Given the description of an element on the screen output the (x, y) to click on. 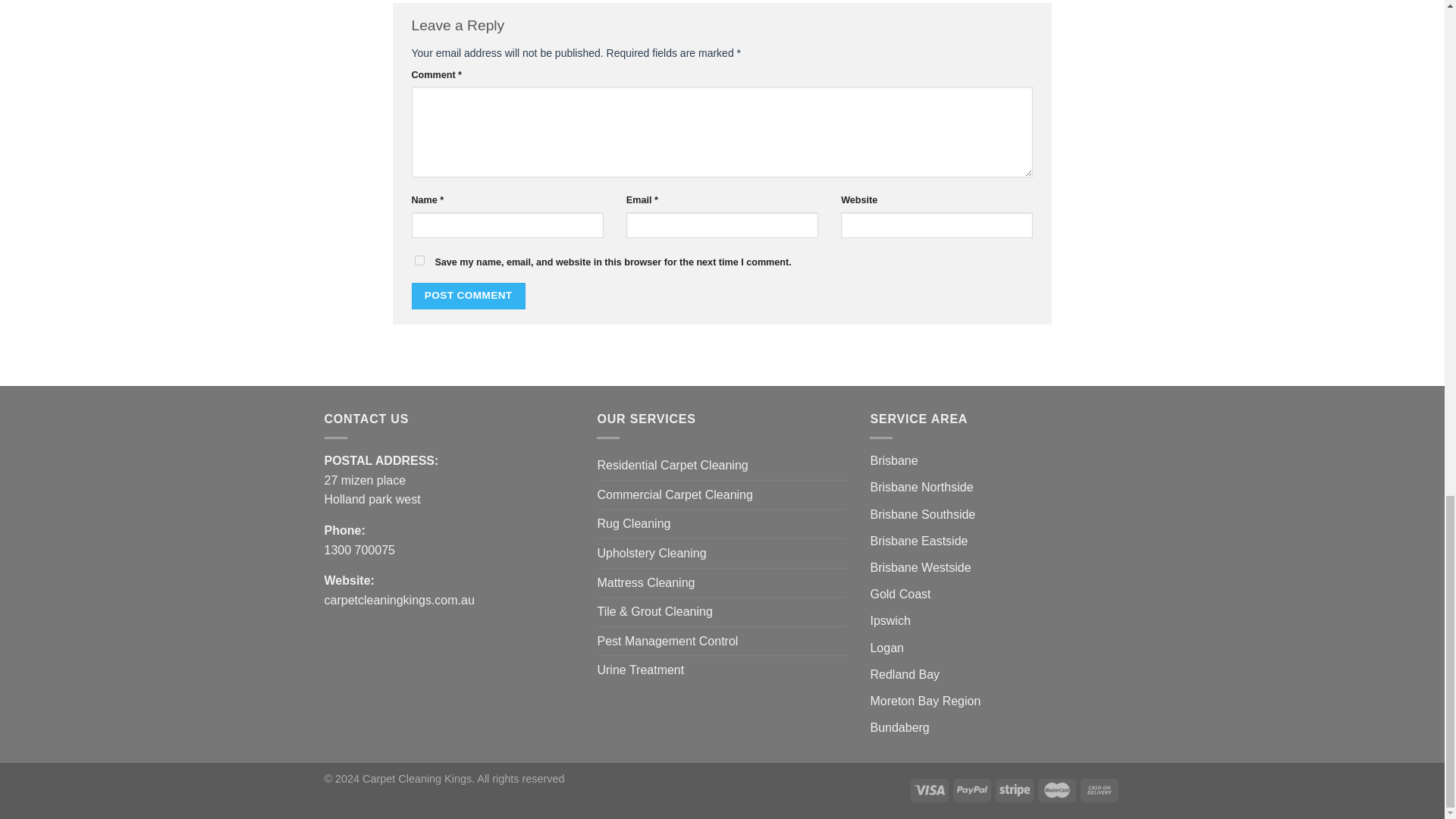
Brisbane Eastside (918, 540)
Residential Carpet Cleaning (672, 465)
Pest Management Control (667, 641)
Brisbane Northside (920, 486)
Mattress Cleaning (645, 582)
Brisbane Southside (922, 513)
carpetcleaningkings.com.au (399, 599)
Commercial Carpet Cleaning (674, 494)
Post Comment (467, 295)
Brisbane (893, 460)
Urine Treatment (640, 670)
Rug Cleaning (632, 523)
Post Comment (467, 295)
Upholstery Cleaning (651, 553)
yes (418, 260)
